Given the description of an element on the screen output the (x, y) to click on. 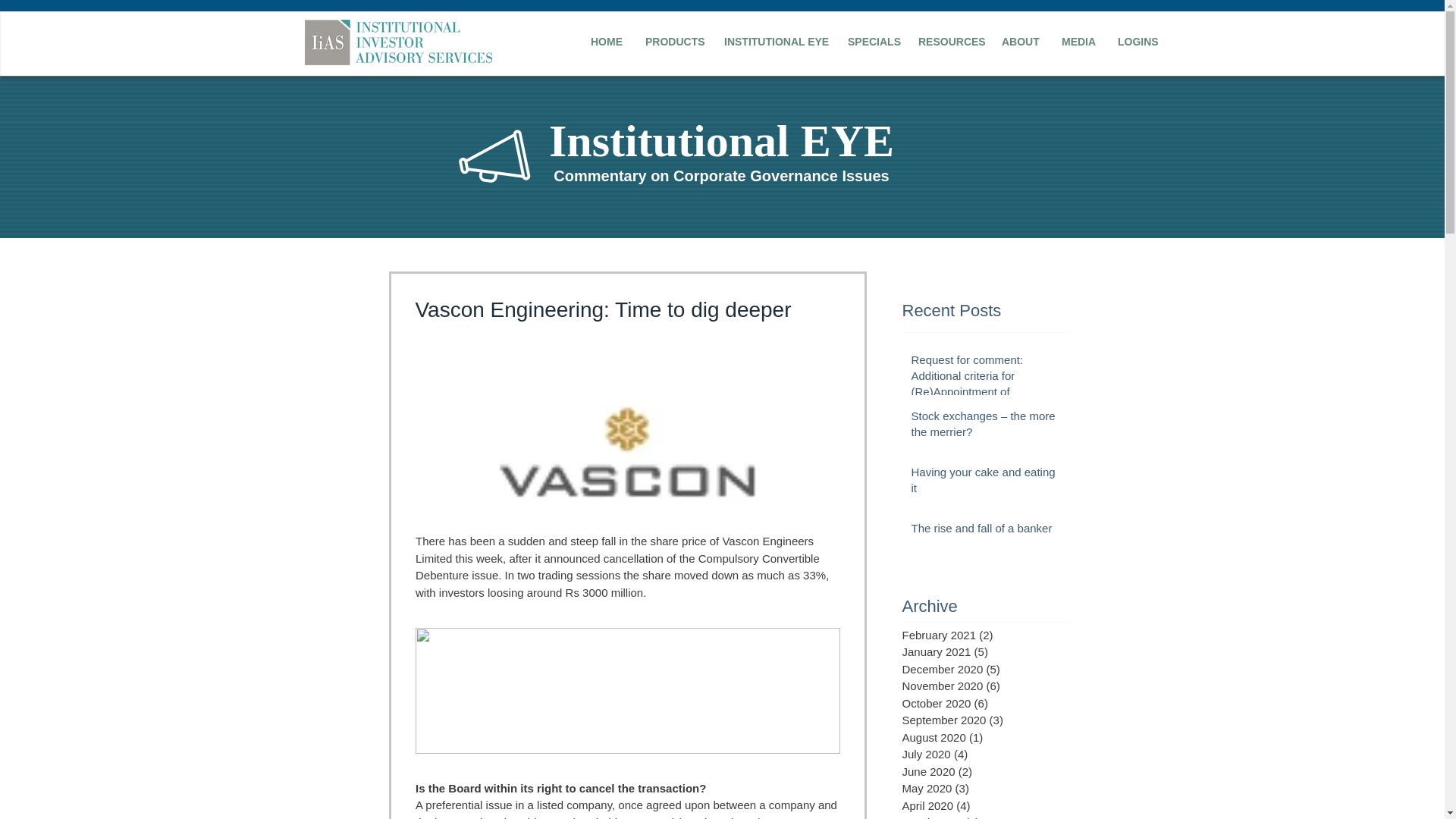
IIAS Logo l Open File.png (398, 42)
PRODUCTS (673, 41)
ABOUT (1019, 41)
HOME (606, 41)
INSTITUTIONAL EYE (774, 41)
MEDIA (1077, 41)
